Given the description of an element on the screen output the (x, y) to click on. 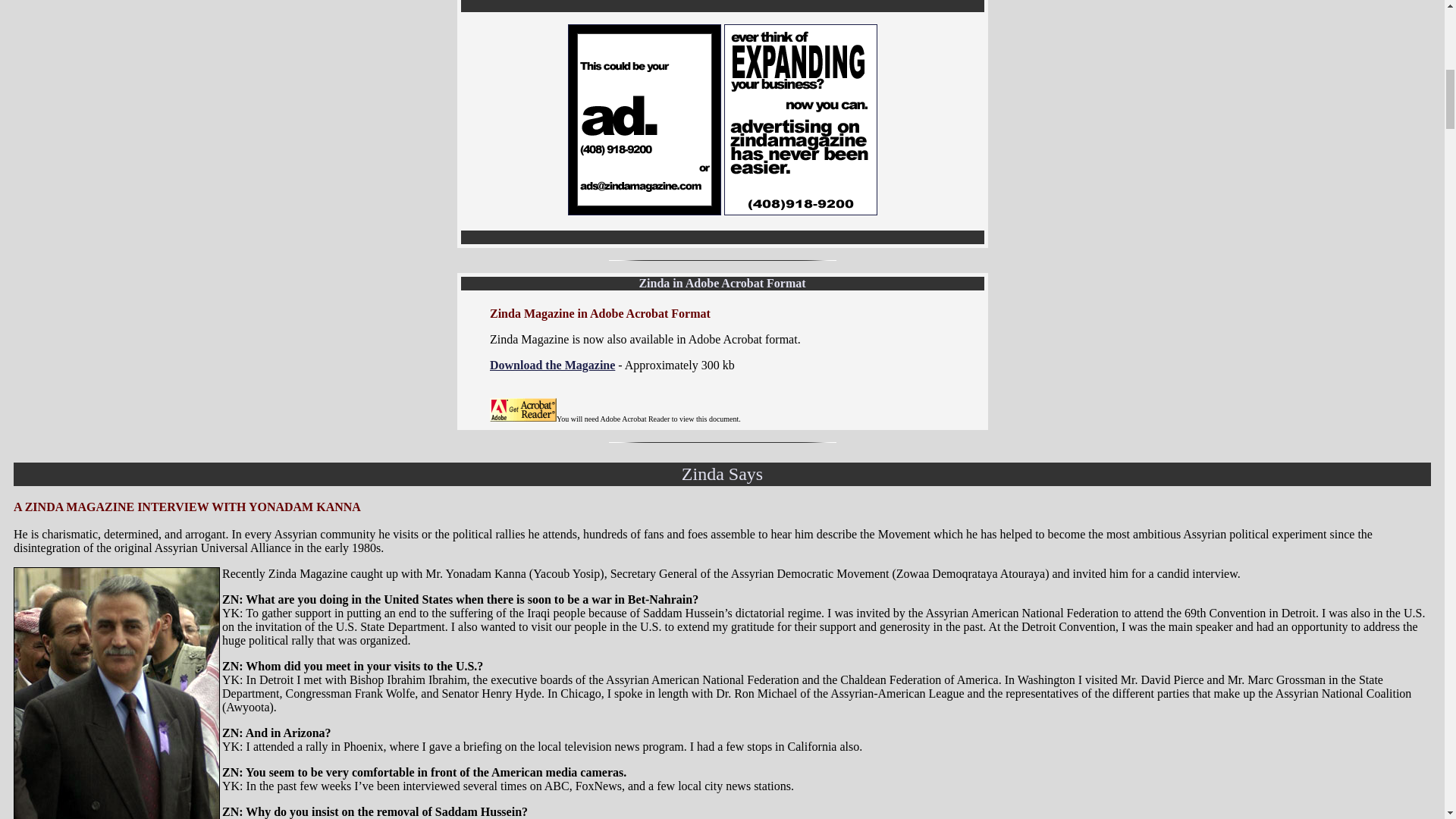
Download the Magazine (551, 364)
